Given the description of an element on the screen output the (x, y) to click on. 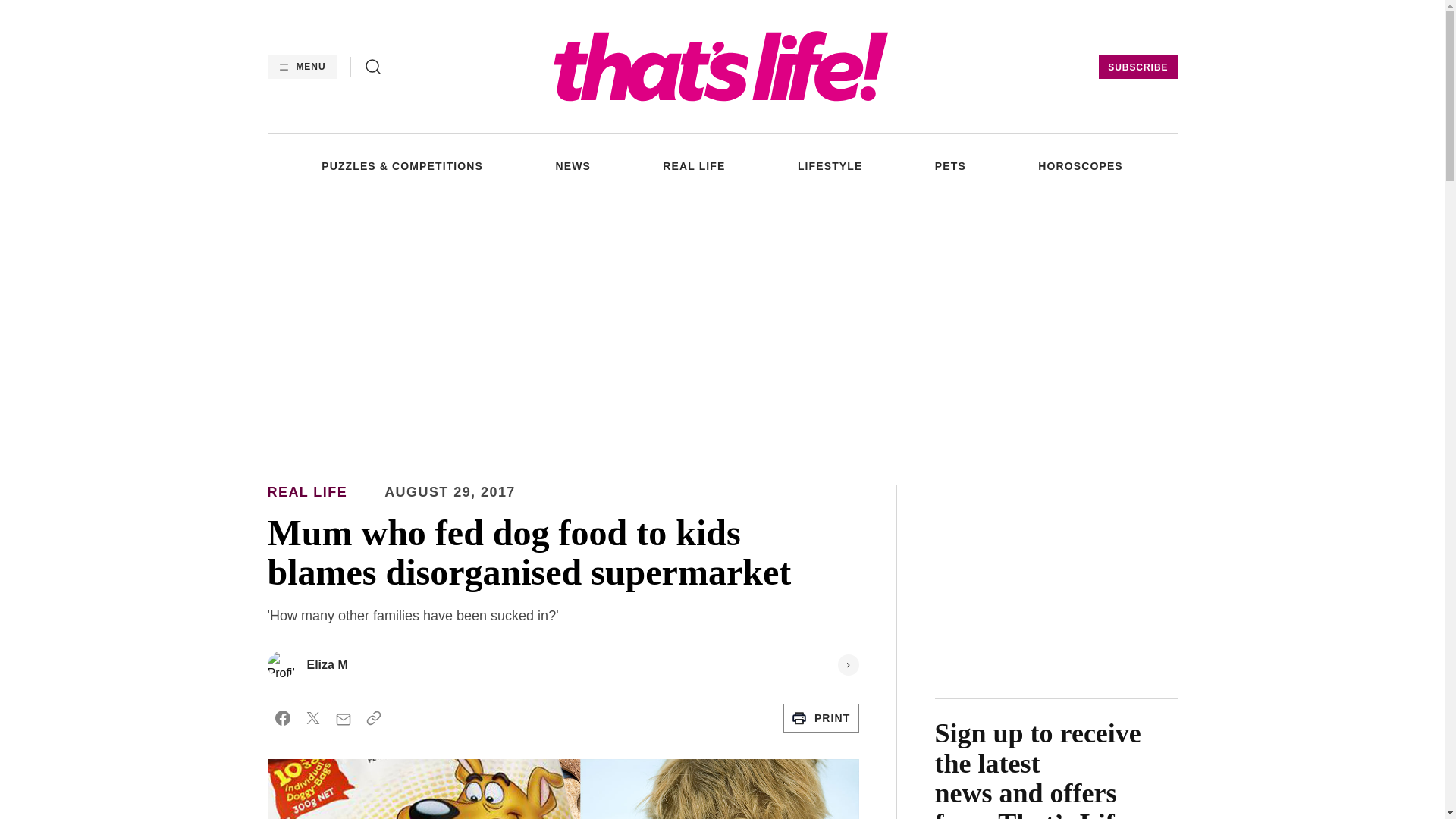
PETS (950, 165)
SUBSCRIBE (1137, 66)
NEWS (571, 165)
LIFESTYLE (830, 165)
MENU (301, 66)
HOROSCOPES (1080, 165)
REAL LIFE (693, 165)
